Given the description of an element on the screen output the (x, y) to click on. 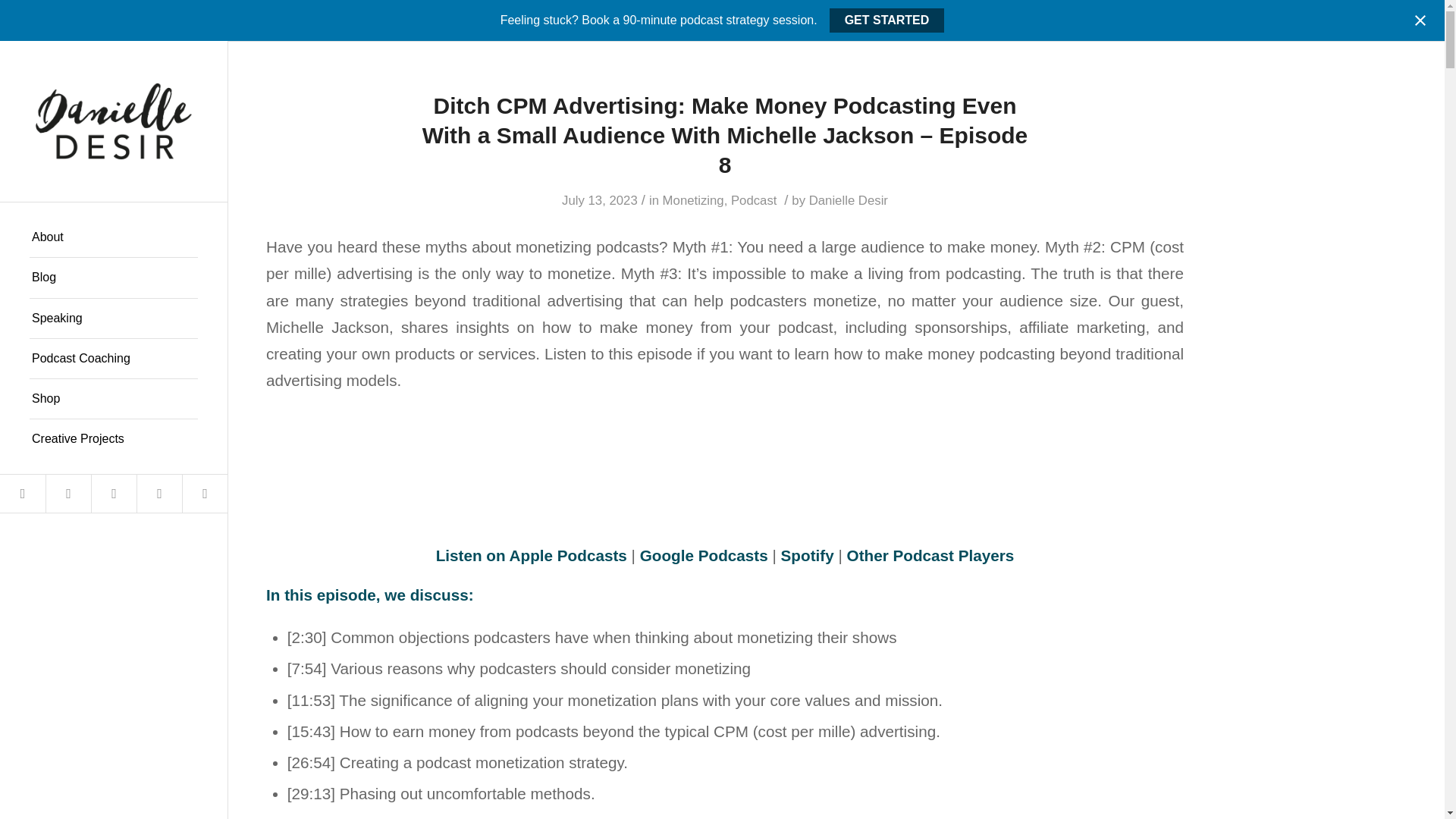
Blog (113, 277)
Other Podcast Players (930, 555)
Monetizing (692, 200)
Youtube (204, 493)
LinkedIn (159, 493)
GET STARTED (886, 20)
Google Podcasts (704, 555)
About (113, 237)
Danielle Desir (848, 200)
Podcast Coaching (113, 359)
Creative Projects (113, 438)
Shop (113, 399)
Spotify (807, 555)
Listen on Apple Podcasts (531, 555)
